Given the description of an element on the screen output the (x, y) to click on. 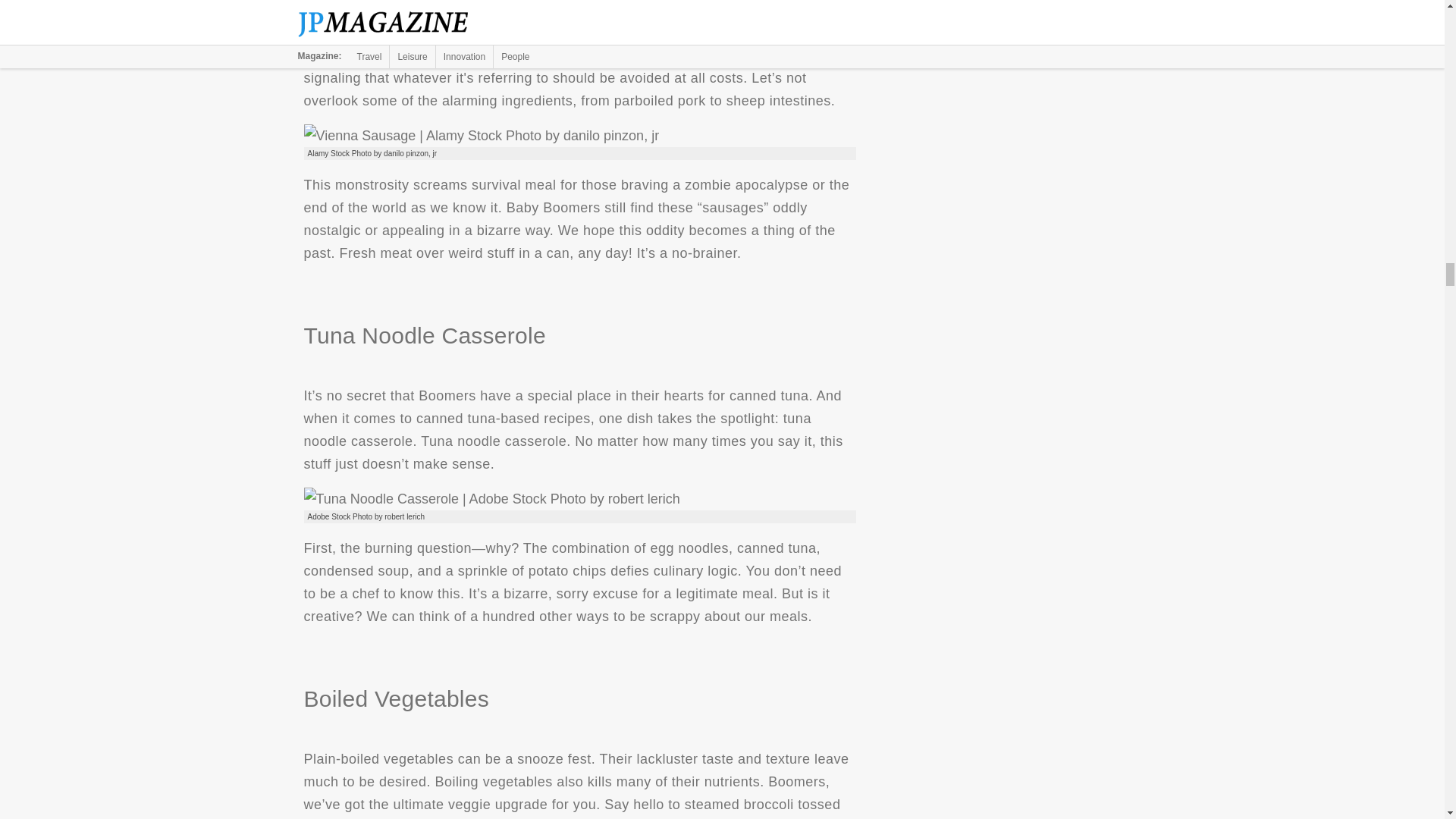
Vienna Sausage (480, 135)
